Given the description of an element on the screen output the (x, y) to click on. 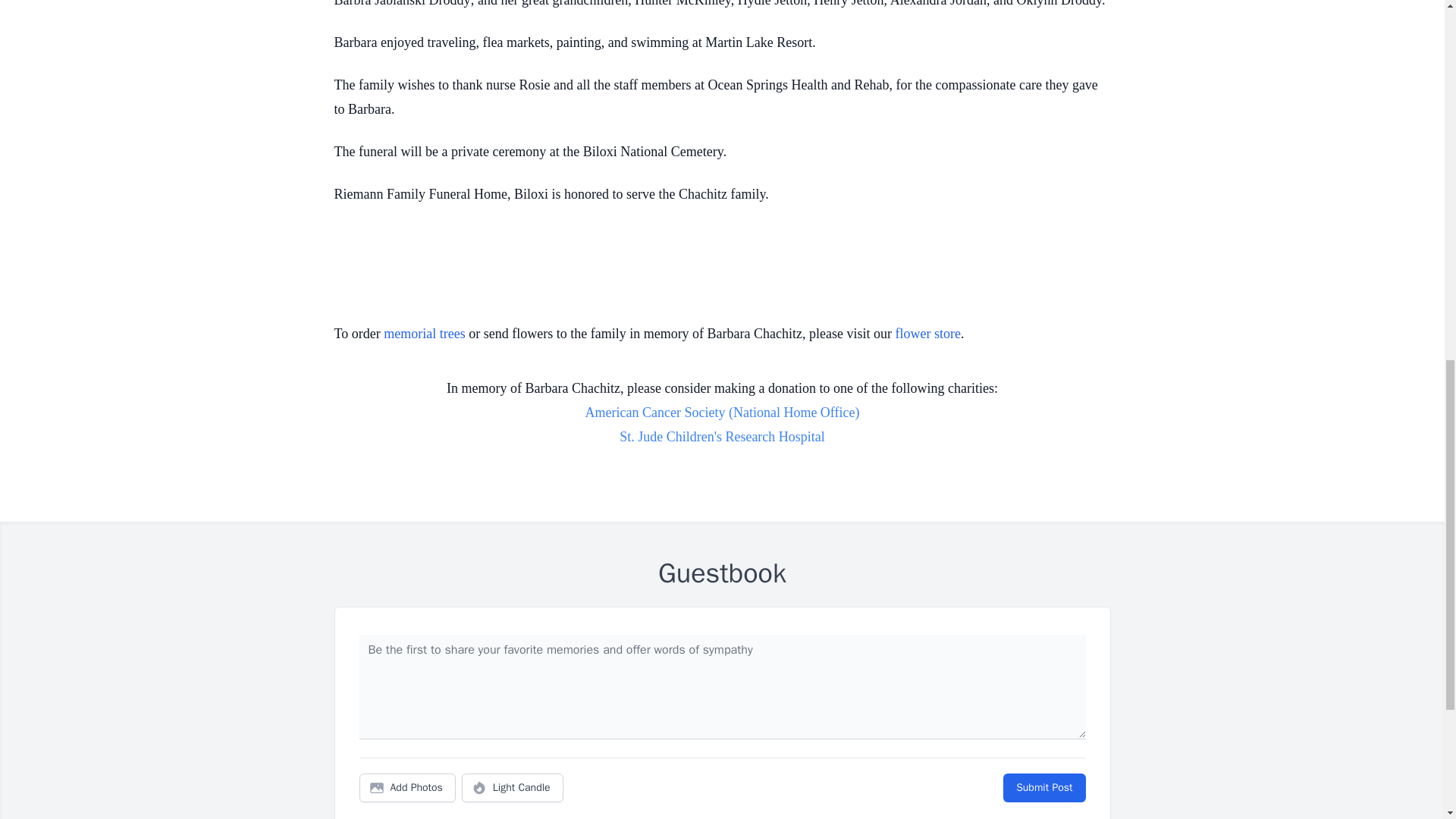
memorial trees (424, 333)
Light Candle (512, 787)
Add Photos (407, 787)
Submit Post (1043, 787)
St. Jude Children's Research Hospital (722, 436)
flower store (927, 333)
